Given the description of an element on the screen output the (x, y) to click on. 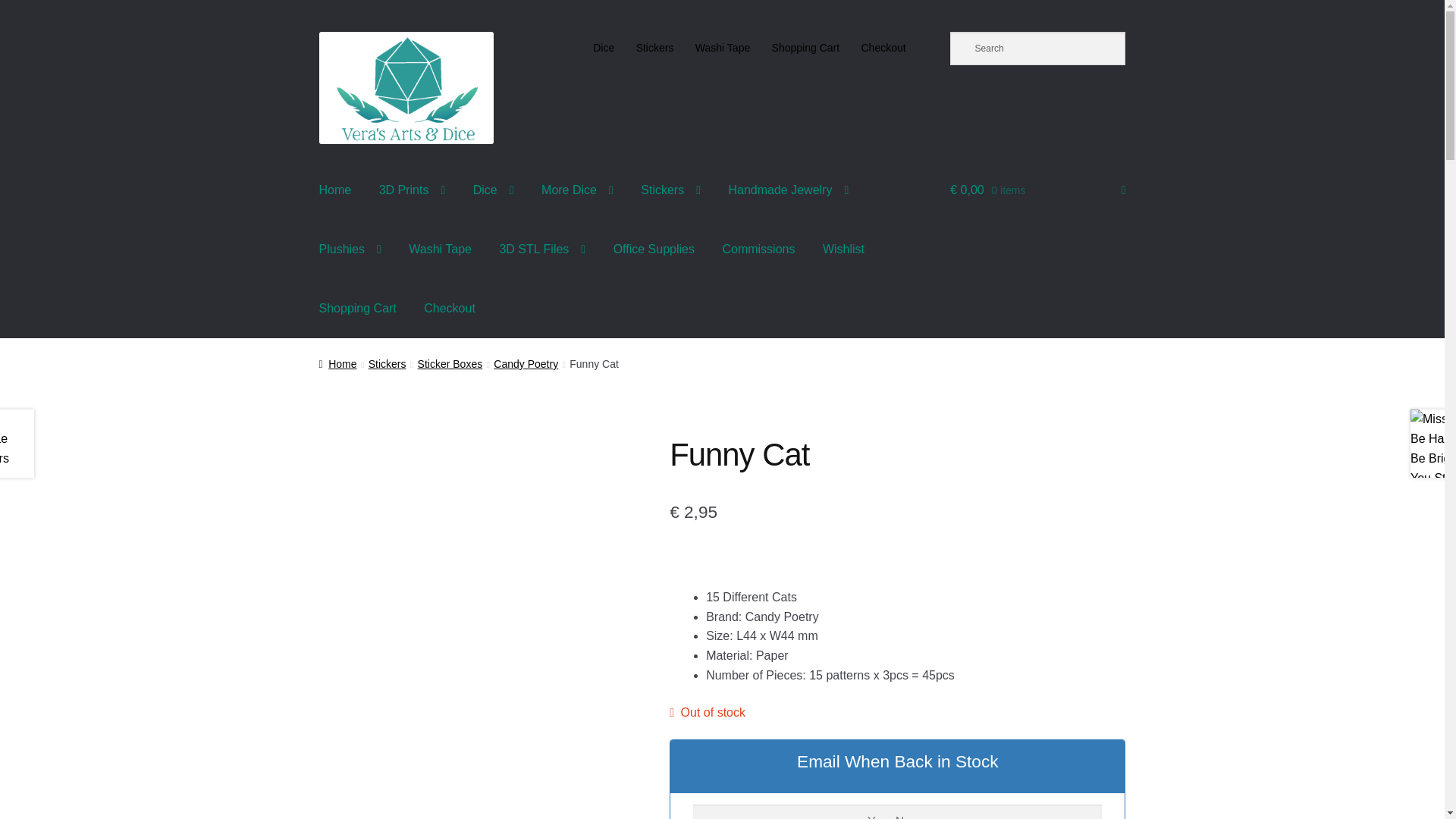
Dice (493, 190)
Home (335, 190)
View your shopping cart (1037, 190)
Washi Tape (722, 47)
Dice (603, 47)
More Dice (577, 190)
3D Prints (412, 190)
Stickers (654, 47)
Checkout (883, 47)
